Given the description of an element on the screen output the (x, y) to click on. 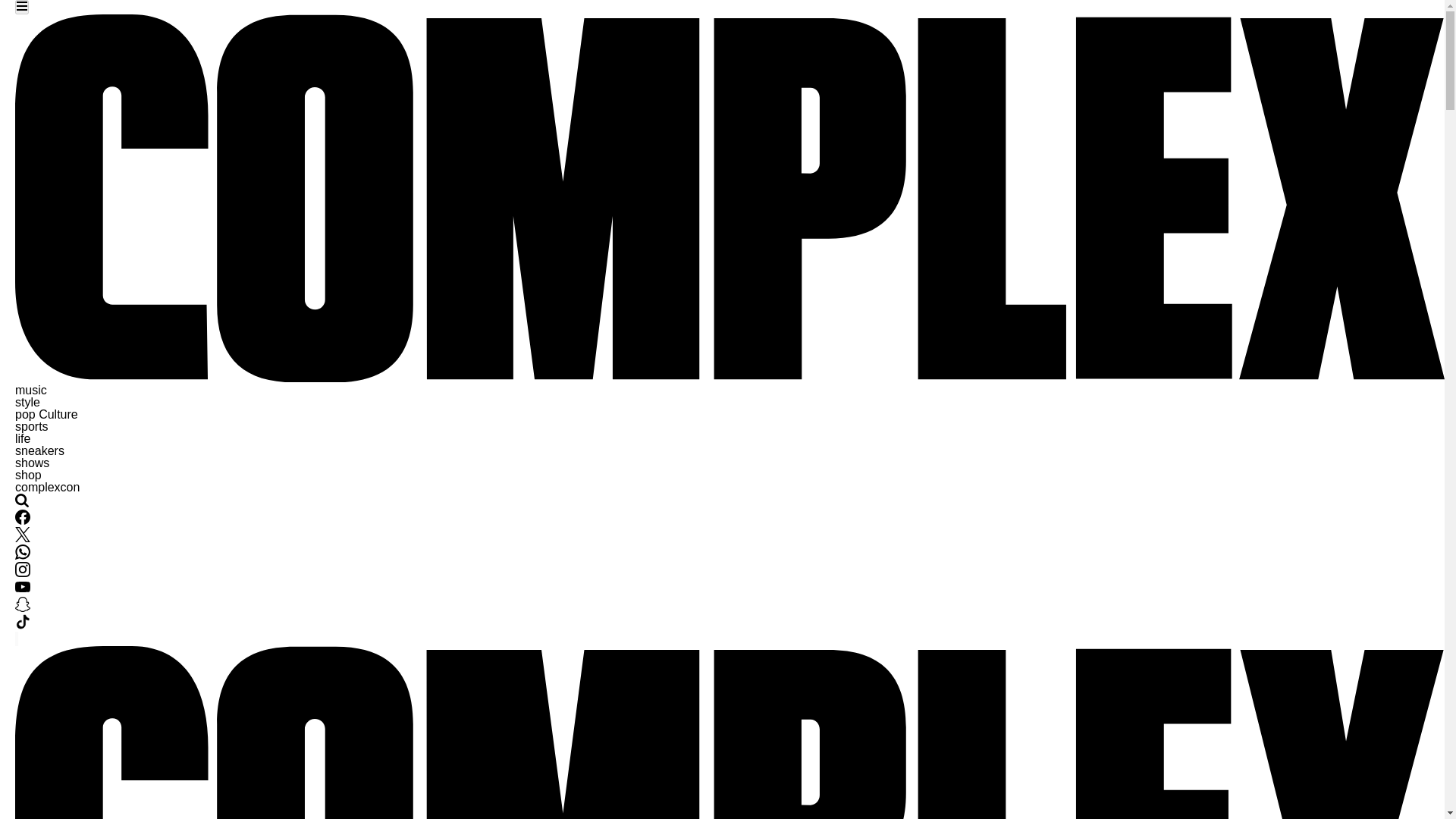
Snapchat Navigation Icon (22, 604)
WhatsApp icon (22, 554)
Snapchat Navigation Icon (22, 607)
WhatsApp icon (22, 551)
sports (31, 426)
Twitter Navigation Icon (22, 537)
hamburger menu (21, 7)
Facebook Navigation Icon (22, 520)
Search Icon (21, 499)
Instagram Navigation Icon (22, 572)
TikTok Navigation Icon (22, 621)
Youtube Navigation Icon (22, 590)
Facebook Navigation Icon (22, 516)
Youtube Navigation Icon (22, 586)
life (22, 438)
